Given the description of an element on the screen output the (x, y) to click on. 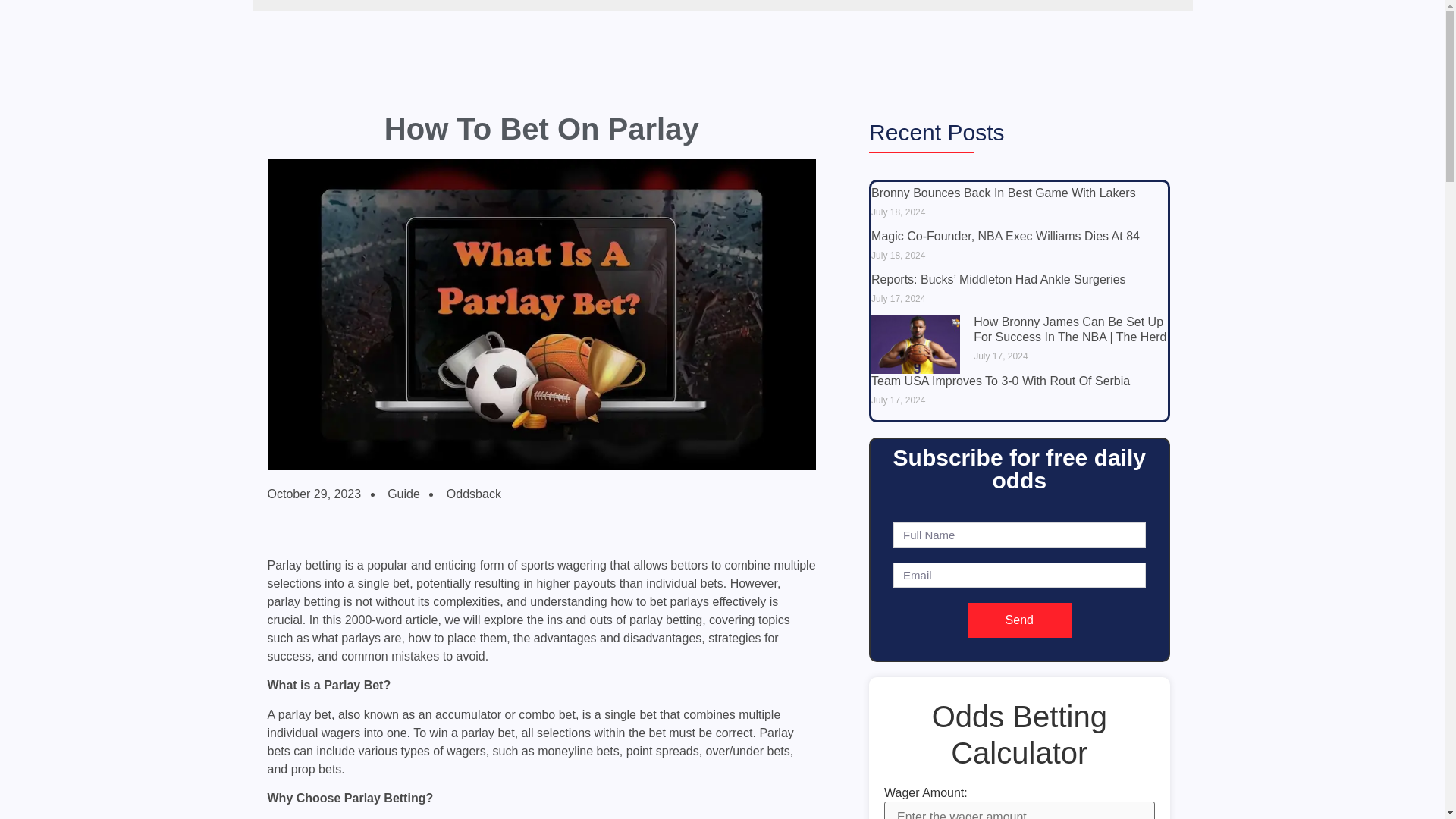
Bronny Bounces Back In Best Game With Lakers (1002, 192)
Send (1019, 620)
Oddsback (471, 494)
Magic Co-Founder, NBA Exec Williams Dies At 84 (1005, 236)
Guide (403, 493)
Team USA Improves To 3-0 With Rout Of Serbia (999, 380)
October 29, 2023 (313, 494)
